Given the description of an element on the screen output the (x, y) to click on. 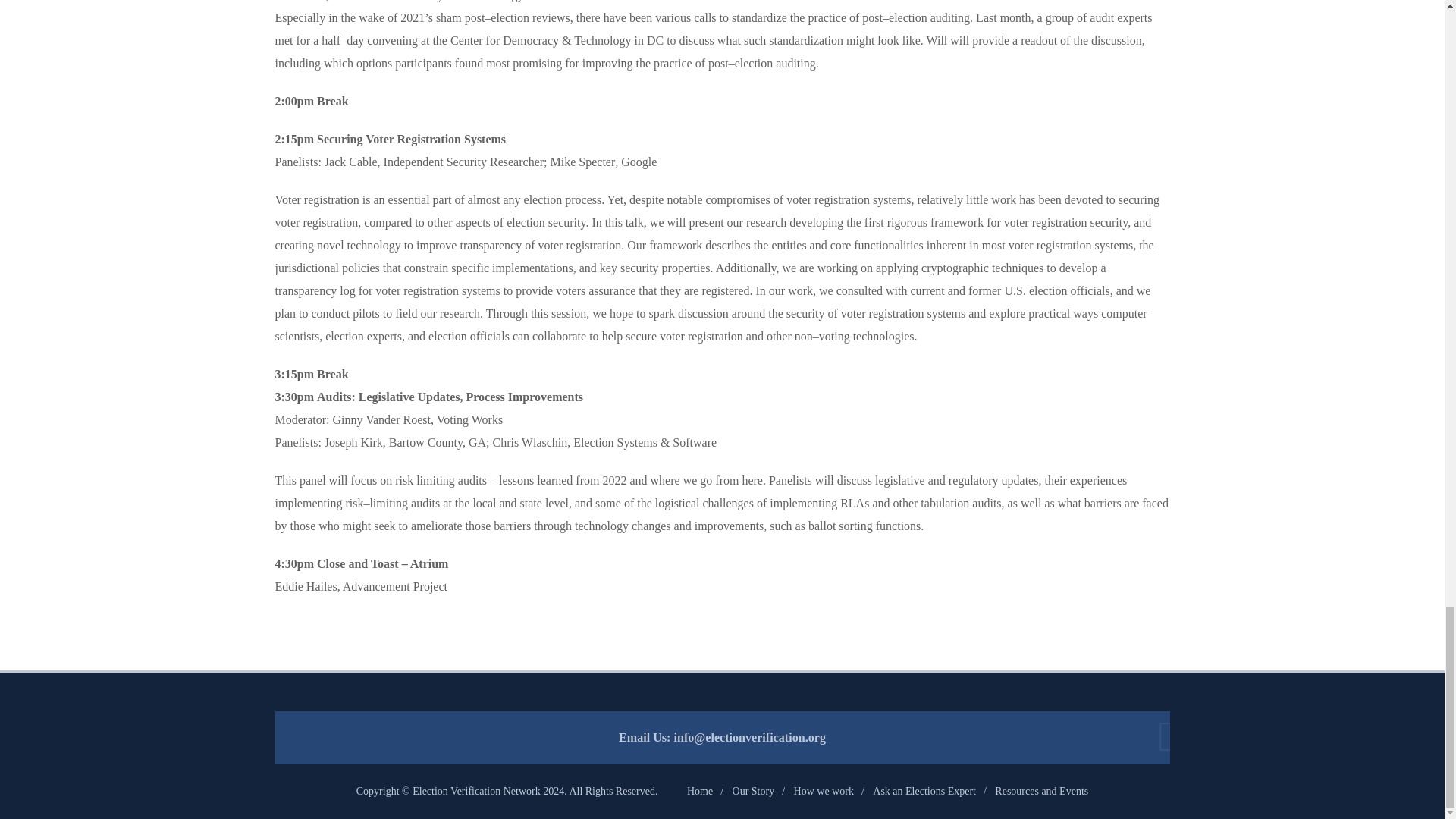
Home (700, 790)
Ask an Elections Expert (923, 790)
Resources and Events (1040, 790)
How we work (823, 790)
Our Story (753, 790)
